Given the description of an element on the screen output the (x, y) to click on. 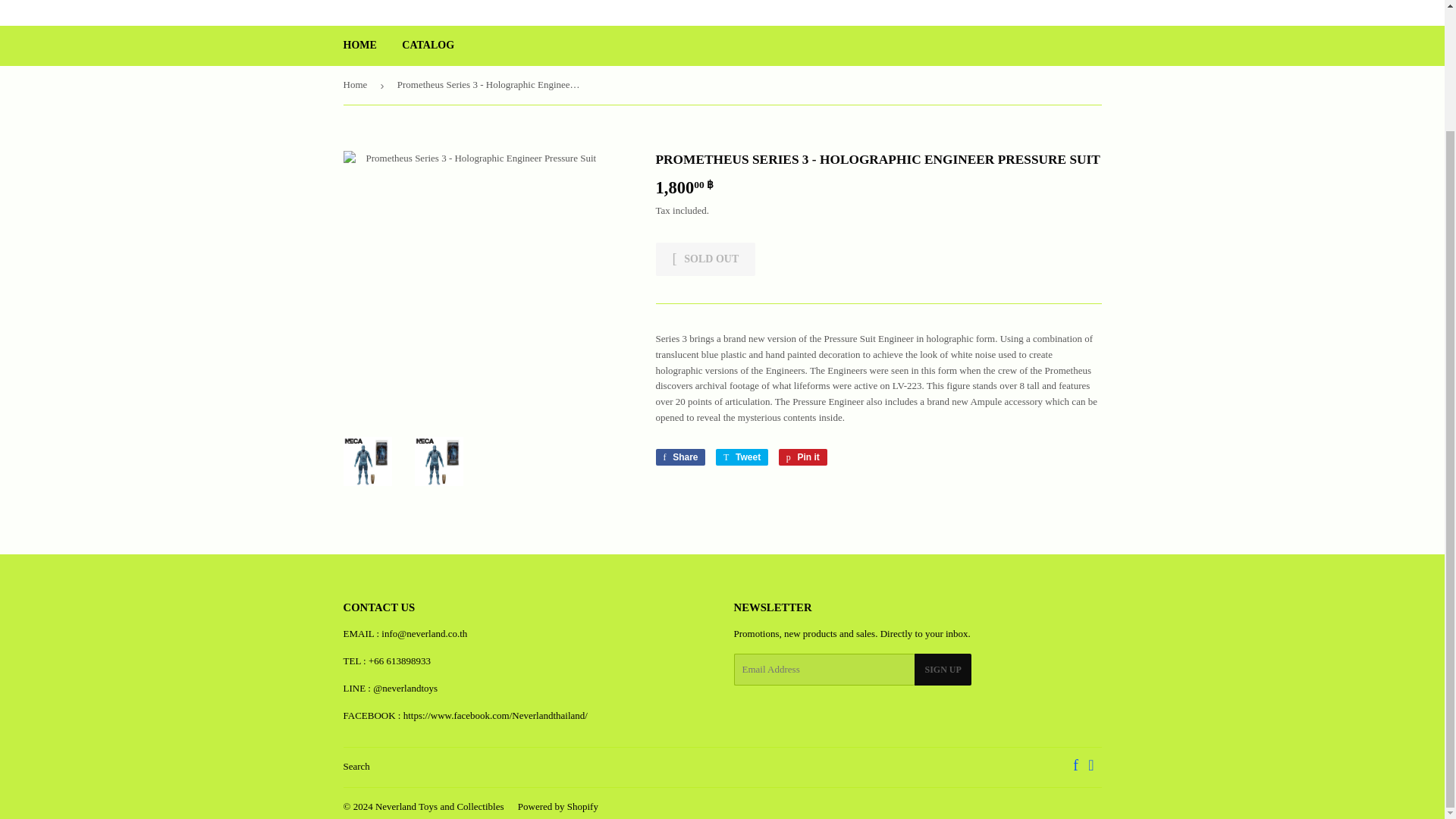
Pin on Pinterest (742, 457)
Neverland Toys and Collectibles (802, 457)
Share on Facebook (439, 806)
CATALOG (679, 457)
Tweet on Twitter (427, 45)
Powered by Shopify (742, 457)
Search (679, 457)
SOLD OUT (558, 806)
HOME (355, 766)
SIGN UP (705, 259)
